Given the description of an element on the screen output the (x, y) to click on. 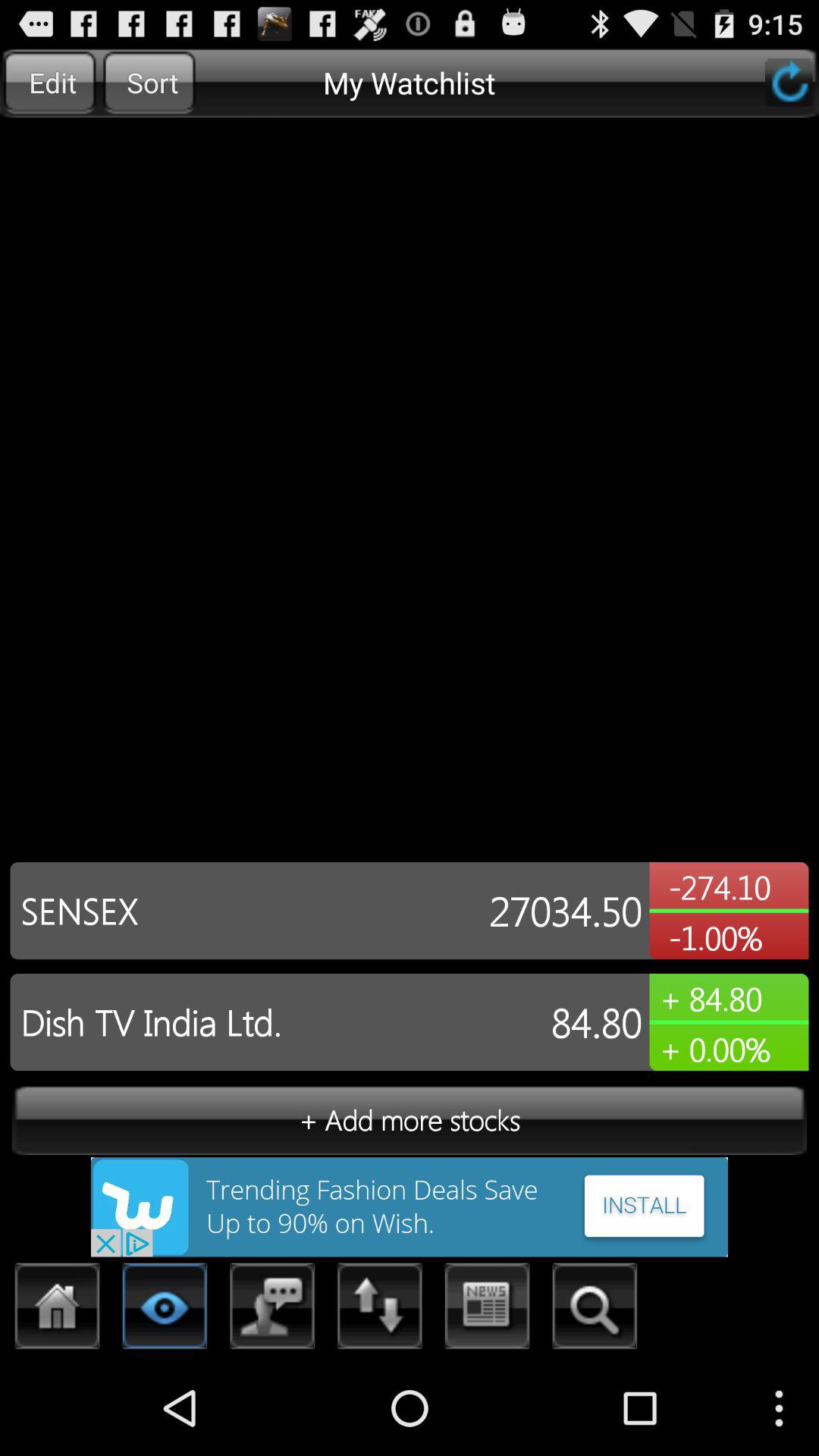
sms option (272, 1310)
